Given the description of an element on the screen output the (x, y) to click on. 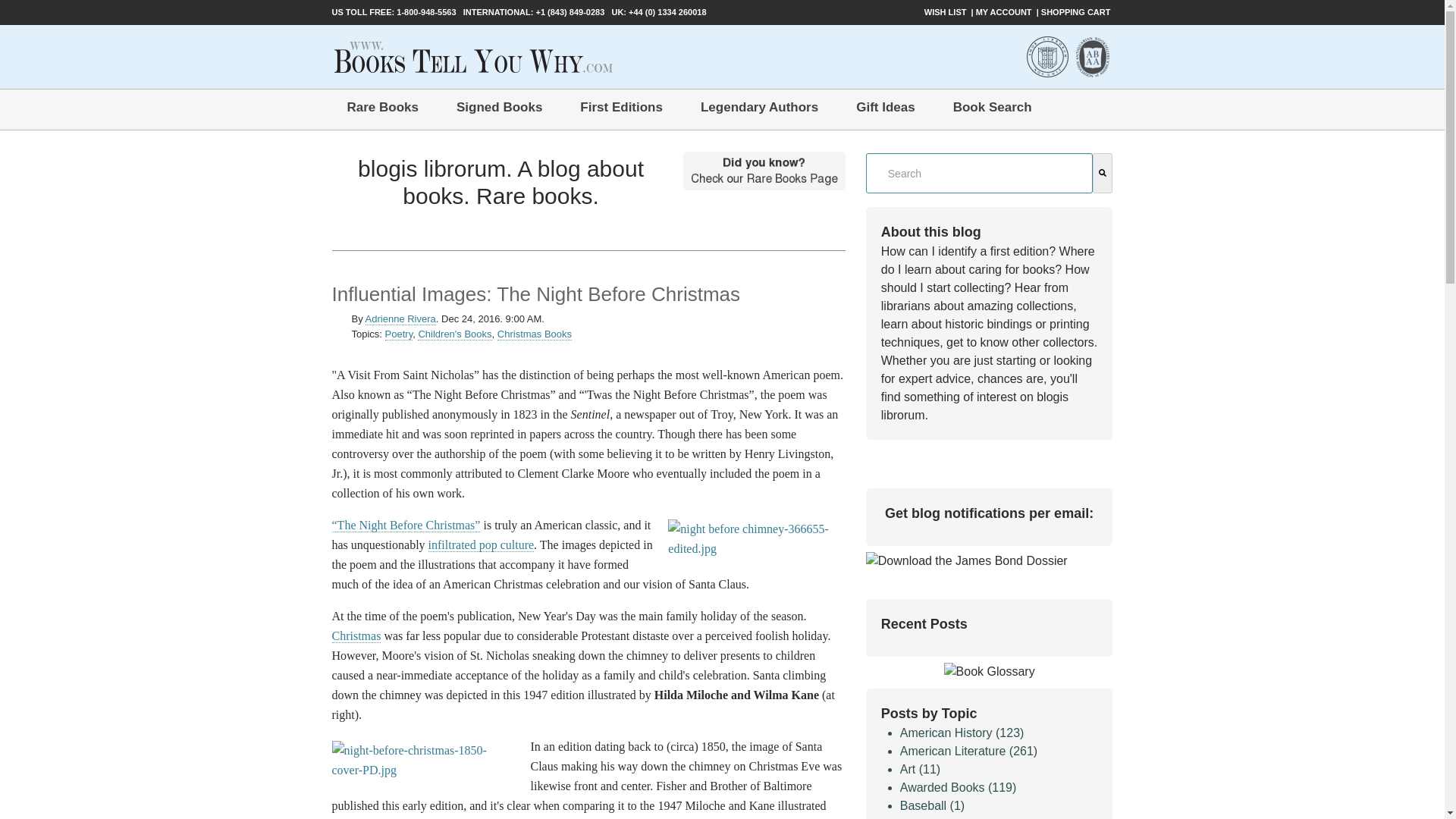
WISH LIST (946, 12)
Books Tell You Why (473, 56)
1-800-948-5563 (424, 11)
Rare Books (382, 107)
SHOPPING CART (1077, 12)
First Editions (621, 107)
Signed Books (499, 107)
Gift Ideas (885, 107)
Legendary Authors (758, 107)
MY ACCOUNT (1004, 12)
